Given the description of an element on the screen output the (x, y) to click on. 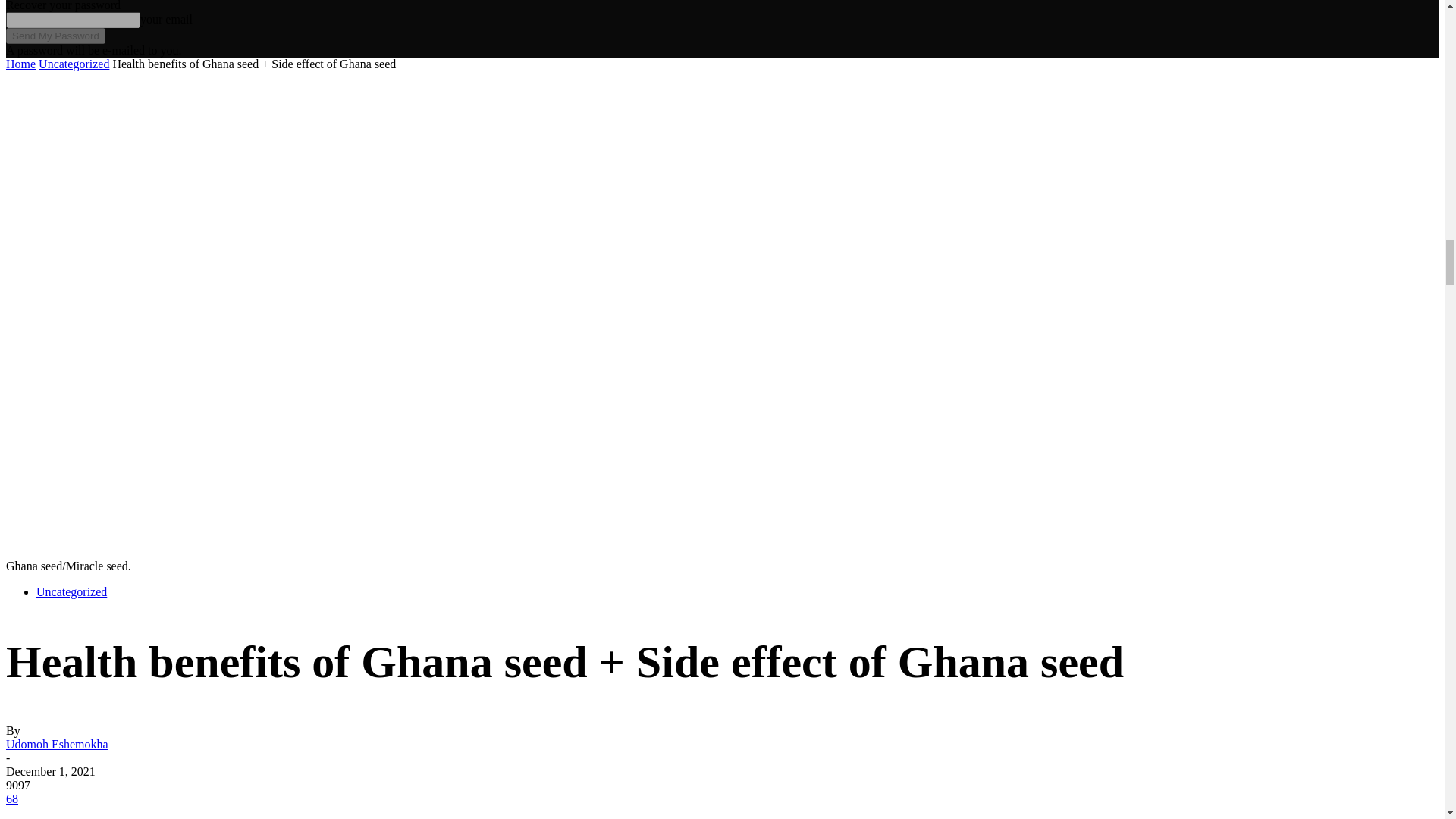
Send My Password (54, 35)
